Given the description of an element on the screen output the (x, y) to click on. 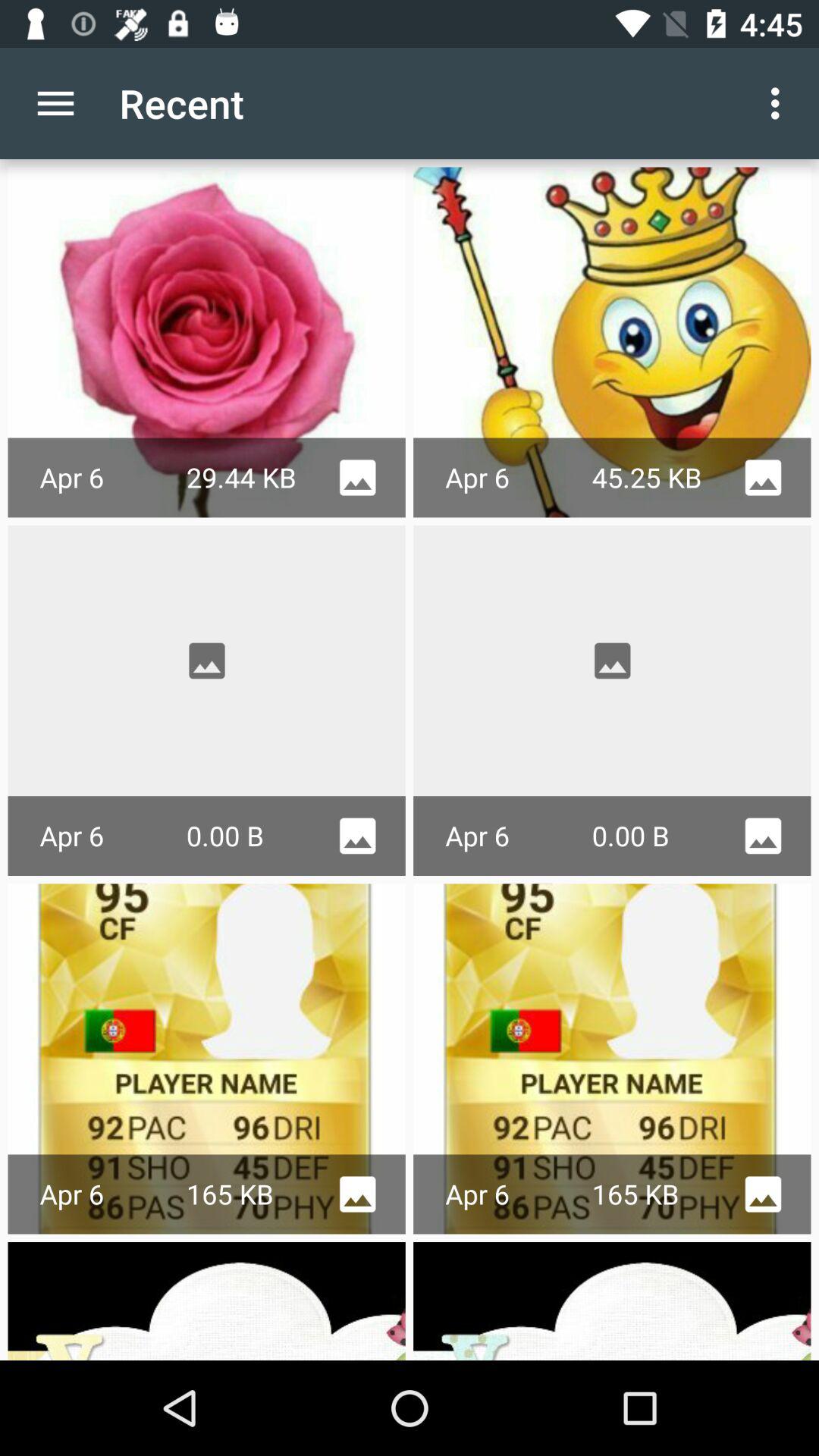
open icon to the left of recent (55, 103)
